Given the description of an element on the screen output the (x, y) to click on. 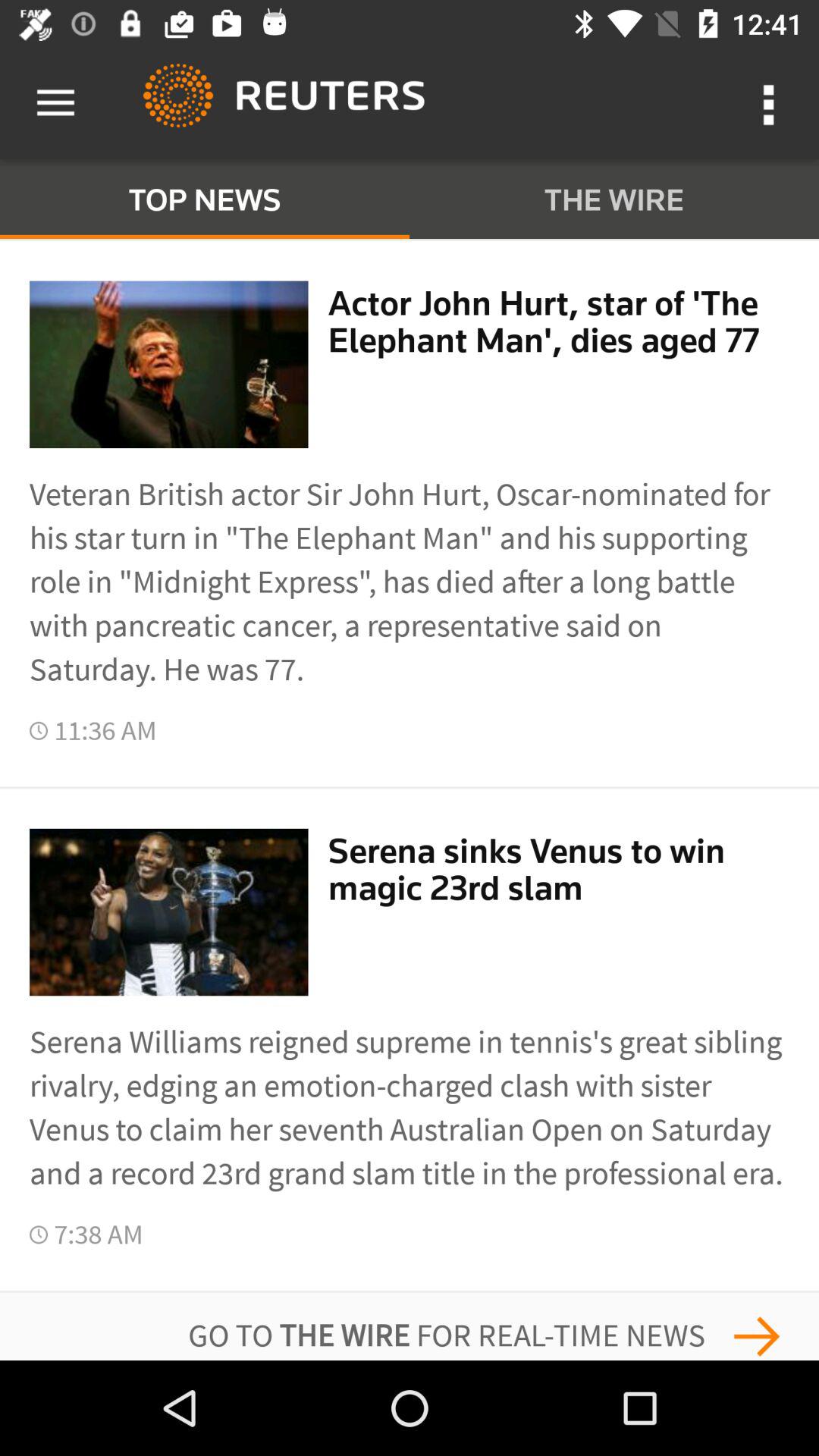
open item above top news icon (55, 103)
